Given the description of an element on the screen output the (x, y) to click on. 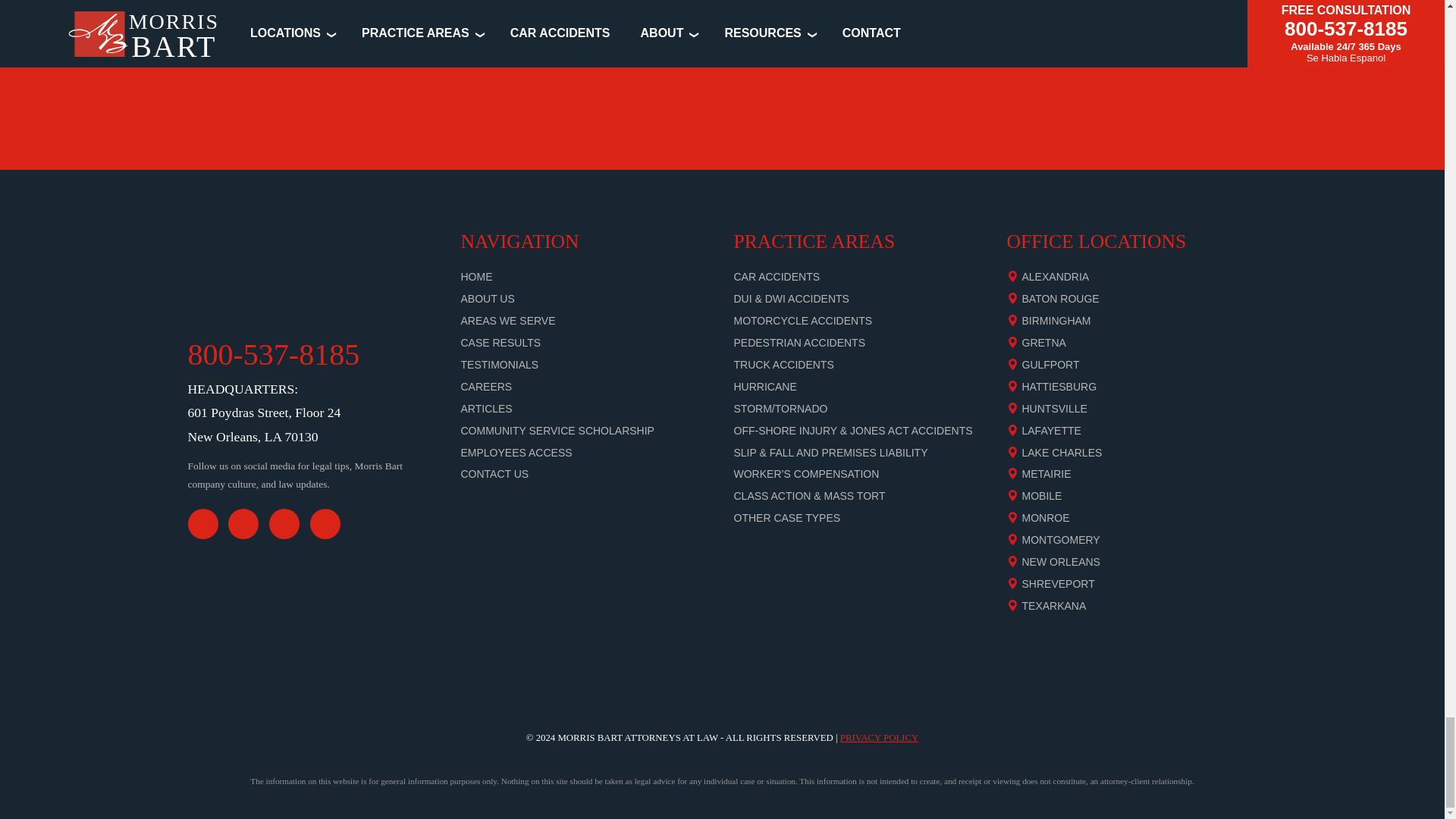
Testimonials (499, 364)
Articles (486, 408)
Careers (486, 386)
Case results (501, 342)
Areas We Serve (508, 320)
About us (488, 298)
